Given the description of an element on the screen output the (x, y) to click on. 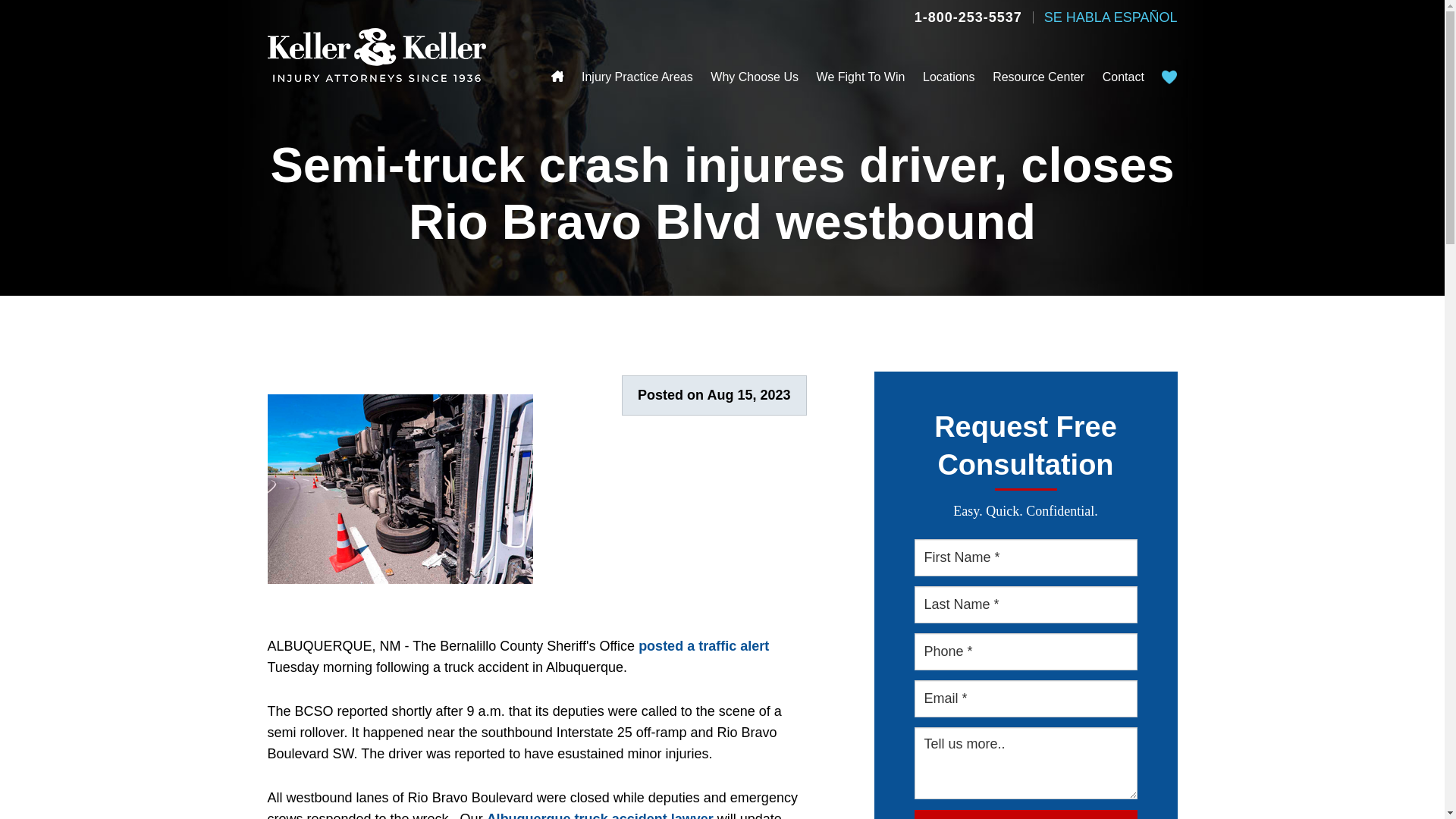
Why Choose Us (753, 77)
Injury Practice Areas (636, 77)
Locations (949, 77)
1-800-253-5537 (968, 17)
We Fight To Win (860, 77)
